Given the description of an element on the screen output the (x, y) to click on. 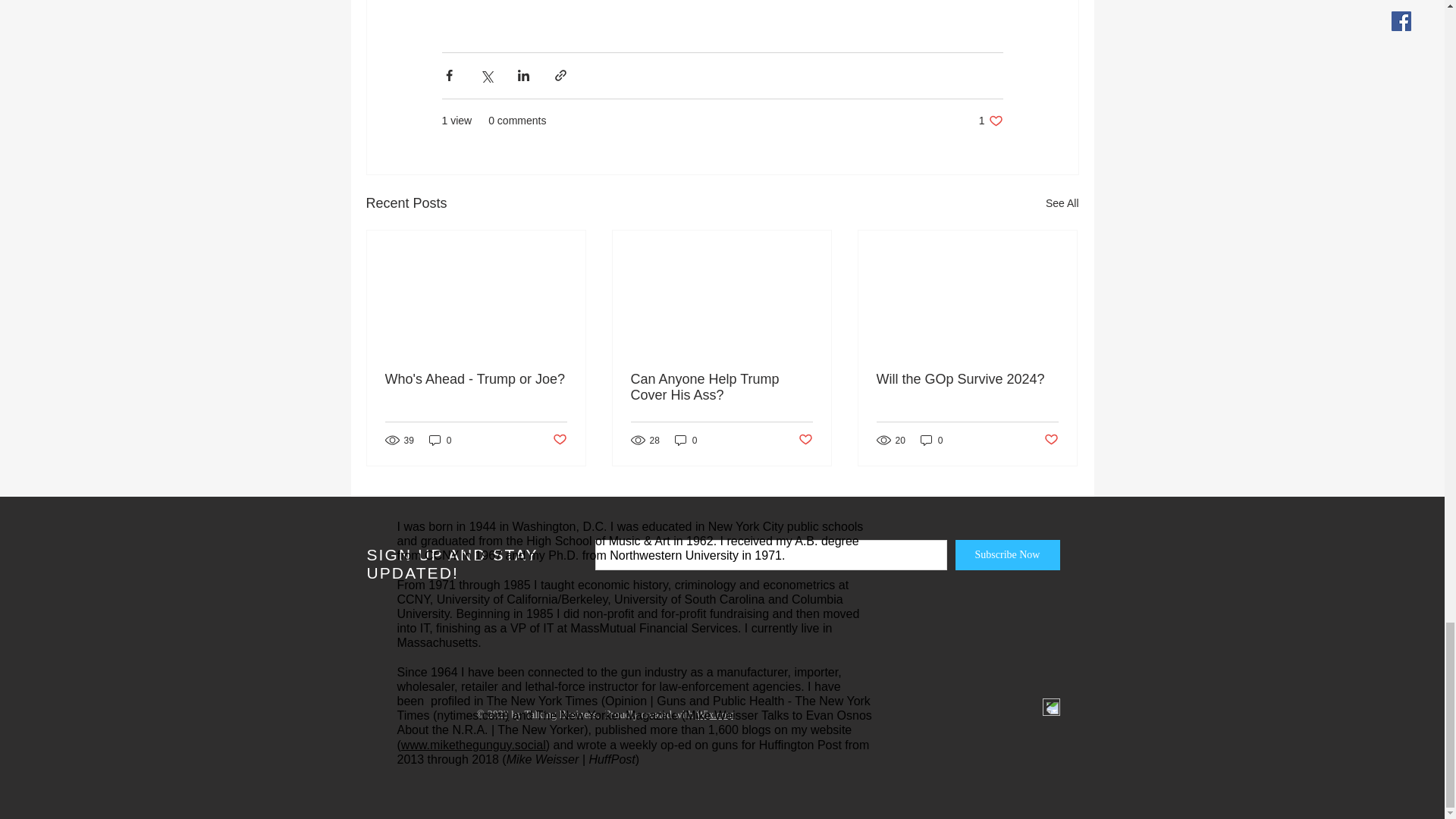
Post not marked as liked (558, 439)
0 (931, 440)
Will the GOp Survive 2024? (967, 379)
Can Anyone Help Trump Cover His Ass? (721, 387)
See All (1061, 203)
Wix.com (715, 714)
Post not marked as liked (804, 439)
0 (685, 440)
0 (440, 440)
Subscribe Now (1007, 554)
Post not marked as liked (990, 120)
Who's Ahead - Trump or Joe? (1050, 439)
